Given the description of an element on the screen output the (x, y) to click on. 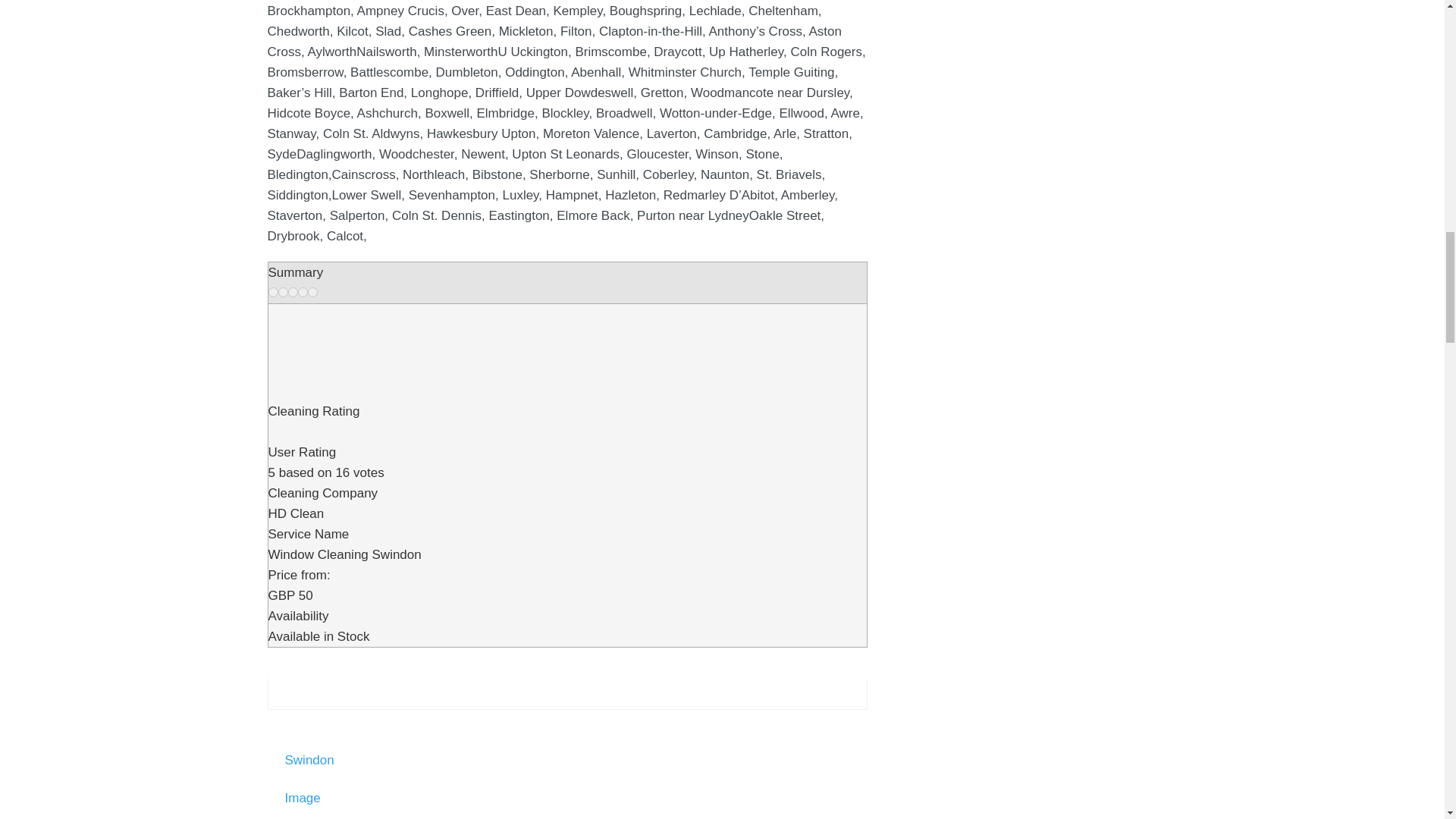
3 (293, 292)
1 (272, 292)
4 (302, 292)
5 (312, 292)
2 (282, 292)
